Given the description of an element on the screen output the (x, y) to click on. 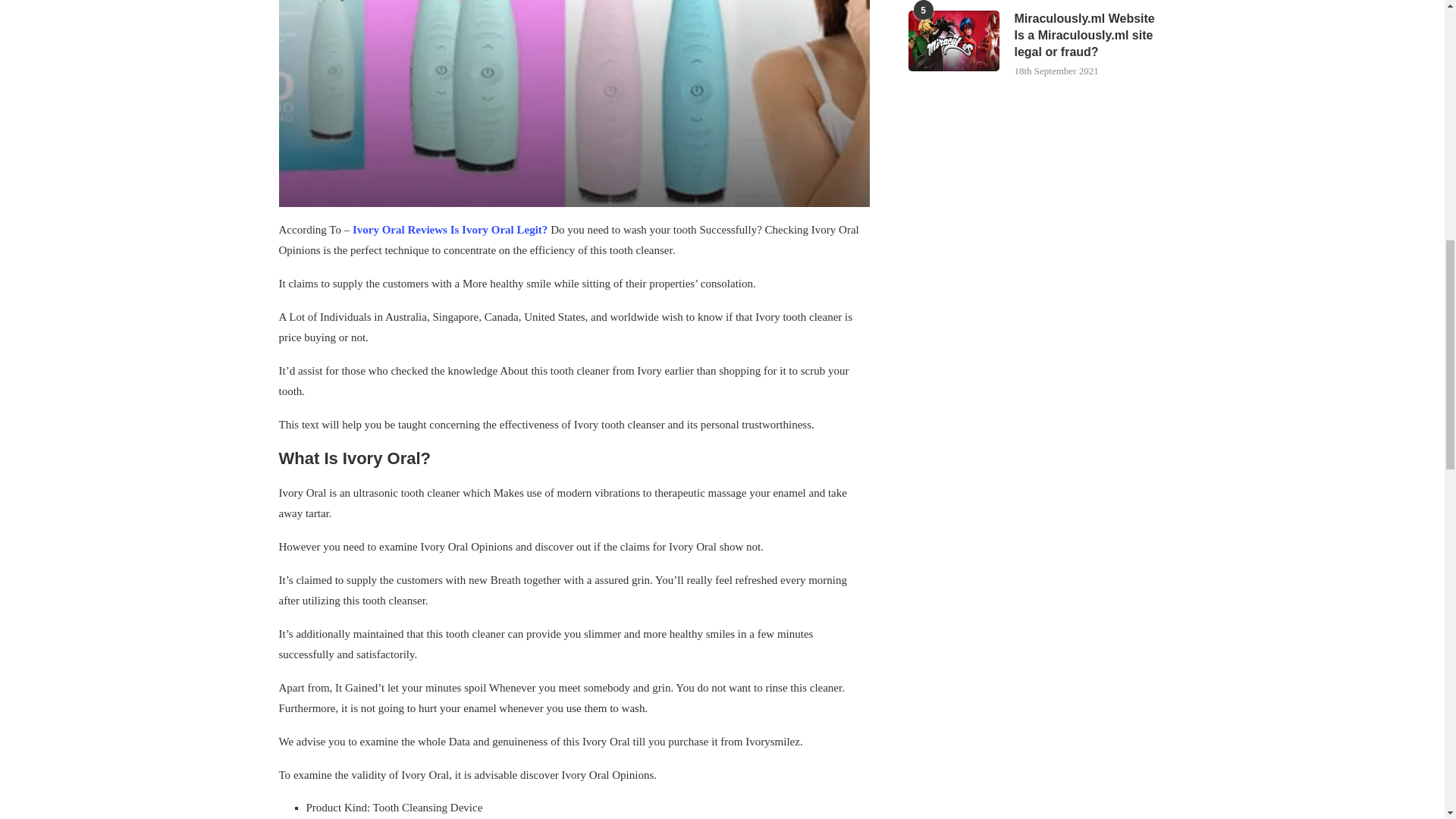
Ivory Oral Reviews Is Ivory Oral Legit? (448, 229)
